Given the description of an element on the screen output the (x, y) to click on. 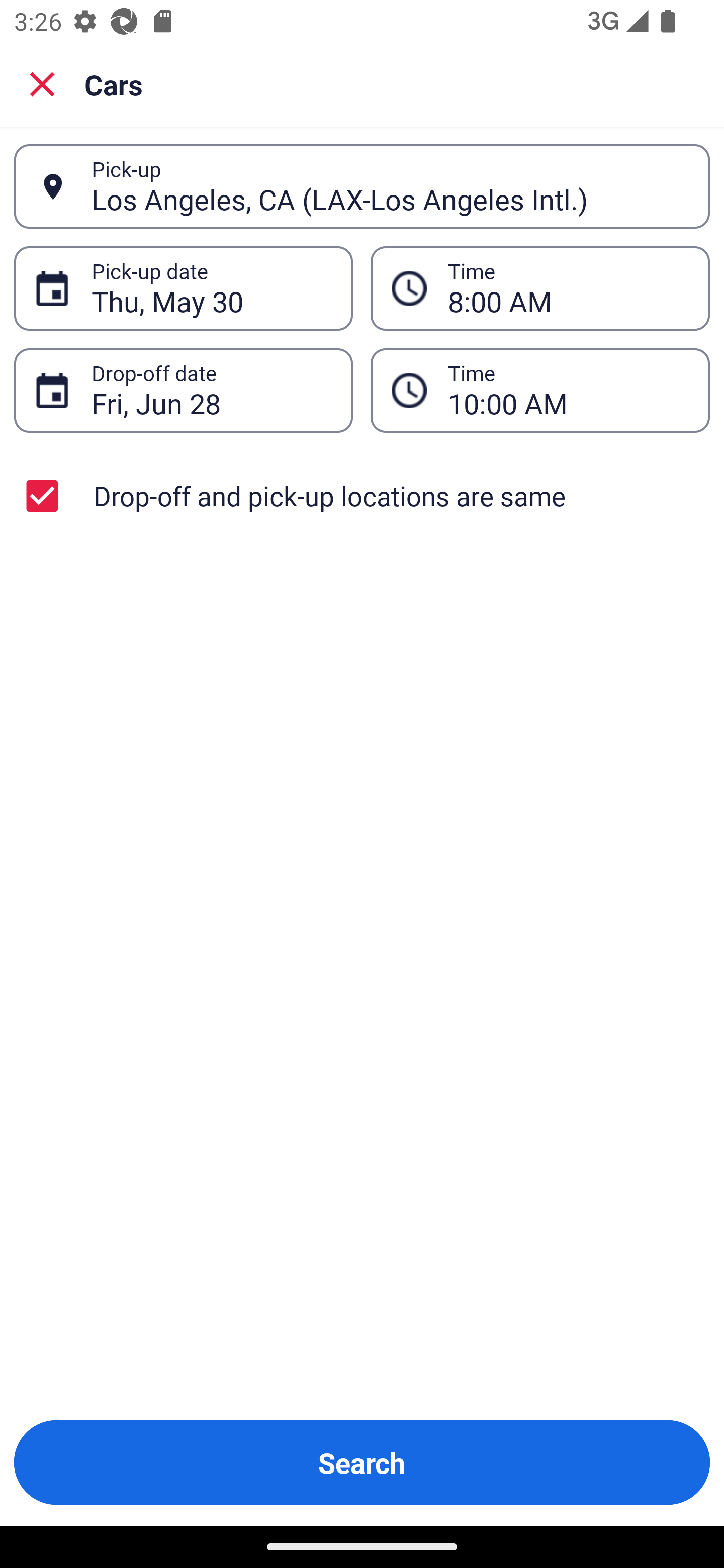
Close search screen (41, 83)
Los Angeles, CA (LAX-Los Angeles Intl.) Pick-up (361, 186)
Los Angeles, CA (LAX-Los Angeles Intl.) (389, 186)
Thu, May 30 Pick-up date (183, 288)
8:00 AM (540, 288)
Thu, May 30 (211, 288)
8:00 AM (568, 288)
Fri, Jun 28 Drop-off date (183, 390)
10:00 AM (540, 390)
Fri, Jun 28 (211, 390)
10:00 AM (568, 390)
Drop-off and pick-up locations are same (361, 495)
Search Button Search (361, 1462)
